Given the description of an element on the screen output the (x, y) to click on. 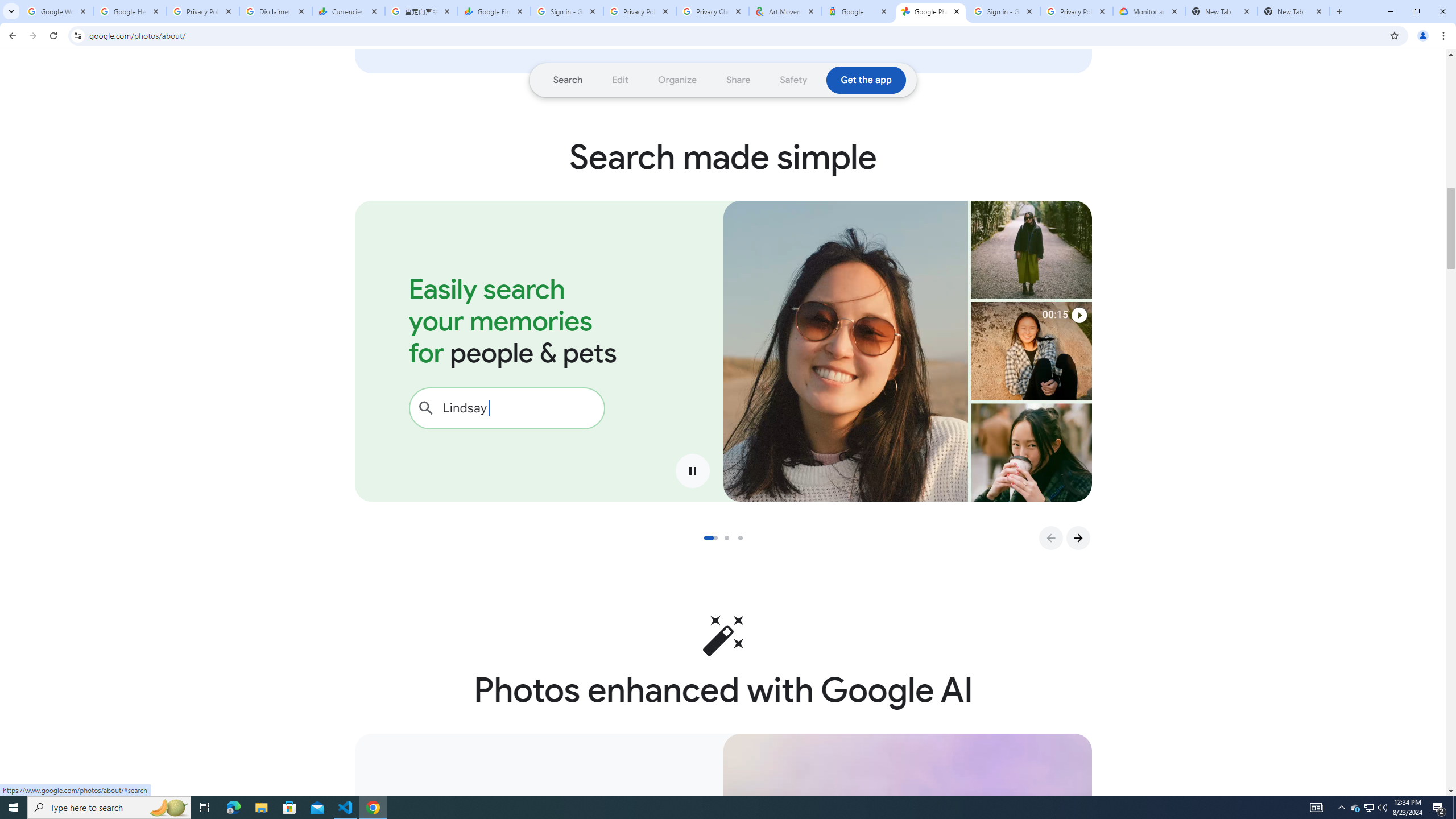
Sign in - Google Accounts (566, 11)
New Tab (1293, 11)
Go to section: Organize (677, 80)
Go to Previous Slide (1050, 537)
Google (857, 11)
Sign in - Google Accounts (1003, 11)
Go to slide 3 (744, 537)
Go to slide 1 (710, 537)
